Given the description of an element on the screen output the (x, y) to click on. 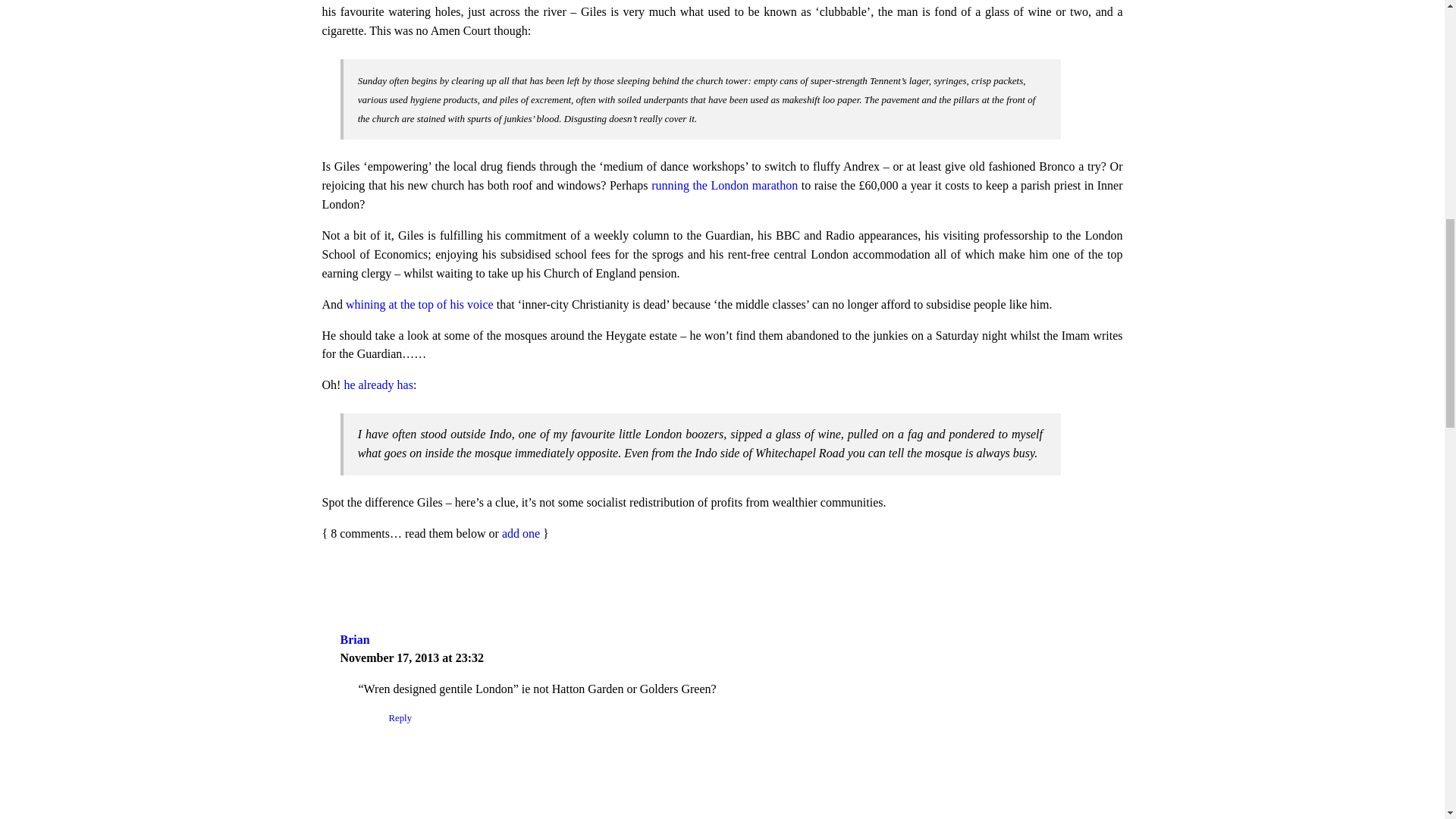
he already has (378, 384)
Brian (354, 639)
add one (521, 533)
running the London marathon (723, 185)
whining at the top of his voice (419, 304)
Reply (400, 717)
